Given the description of an element on the screen output the (x, y) to click on. 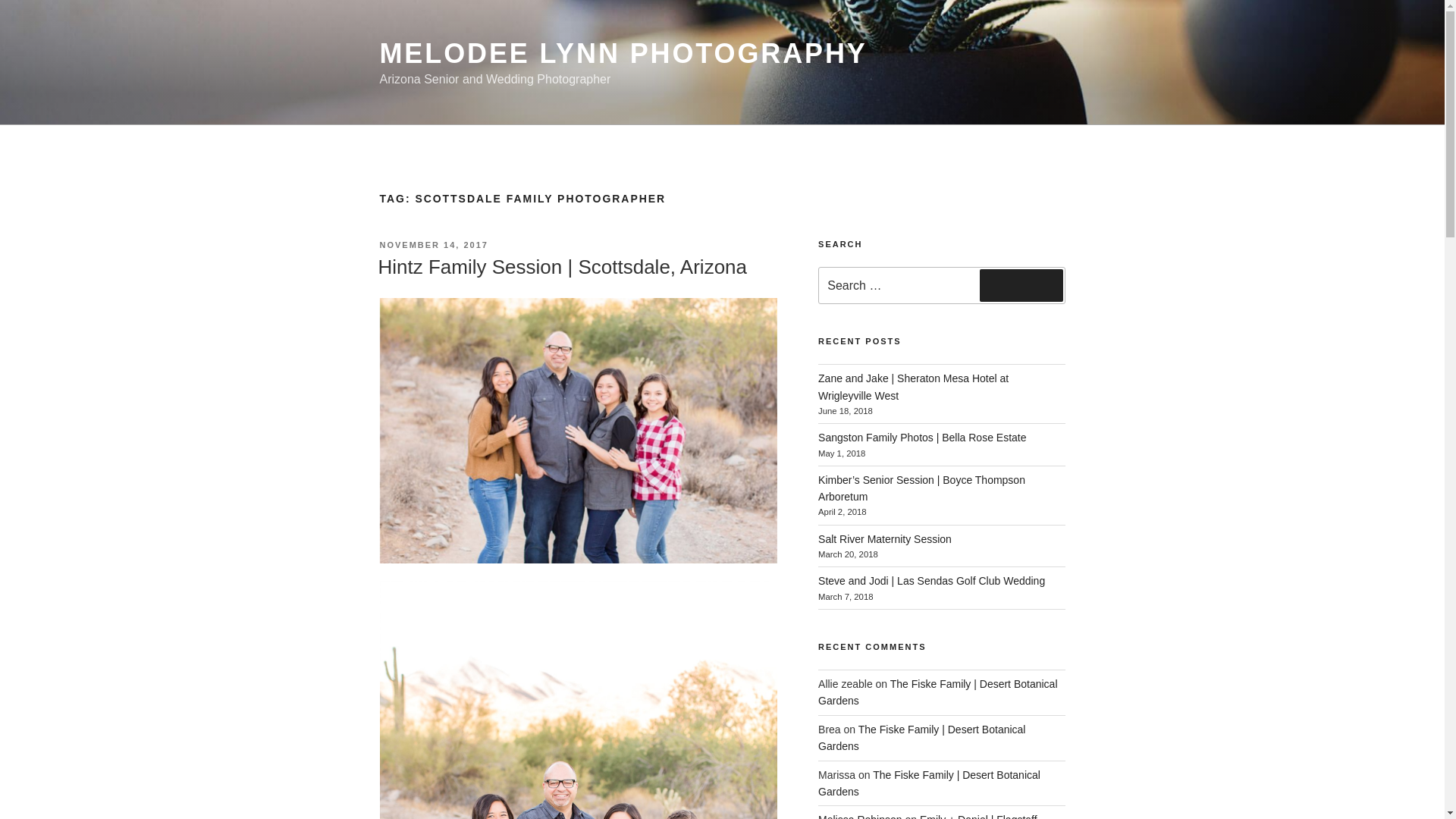
MELODEE LYNN PHOTOGRAPHY (622, 52)
Search (1020, 285)
Melissa Robinson (860, 816)
NOVEMBER 14, 2017 (432, 244)
Salt River Maternity Session (885, 539)
